Given the description of an element on the screen output the (x, y) to click on. 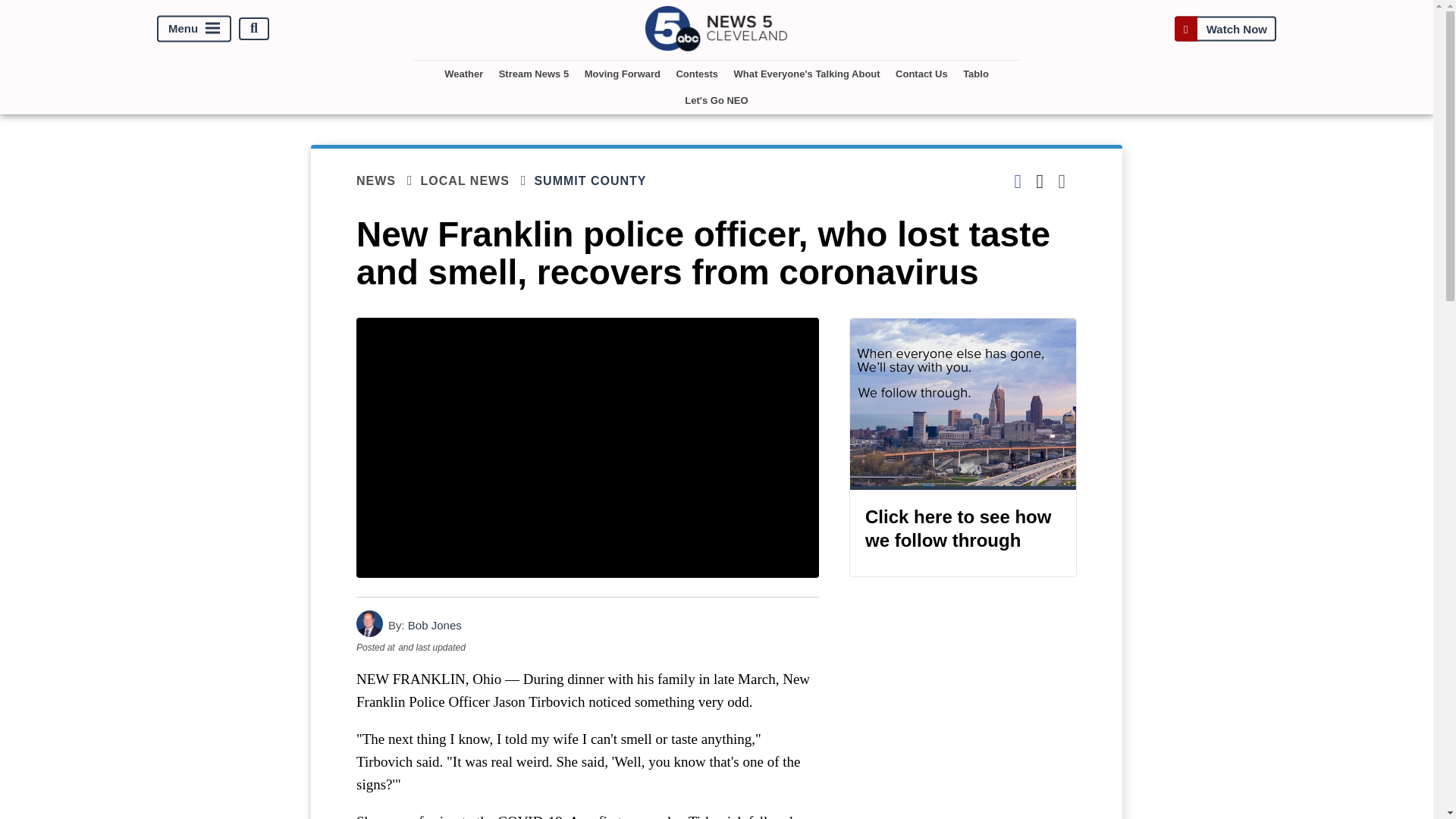
Menu (194, 28)
Watch Now (1224, 28)
